Given the description of an element on the screen output the (x, y) to click on. 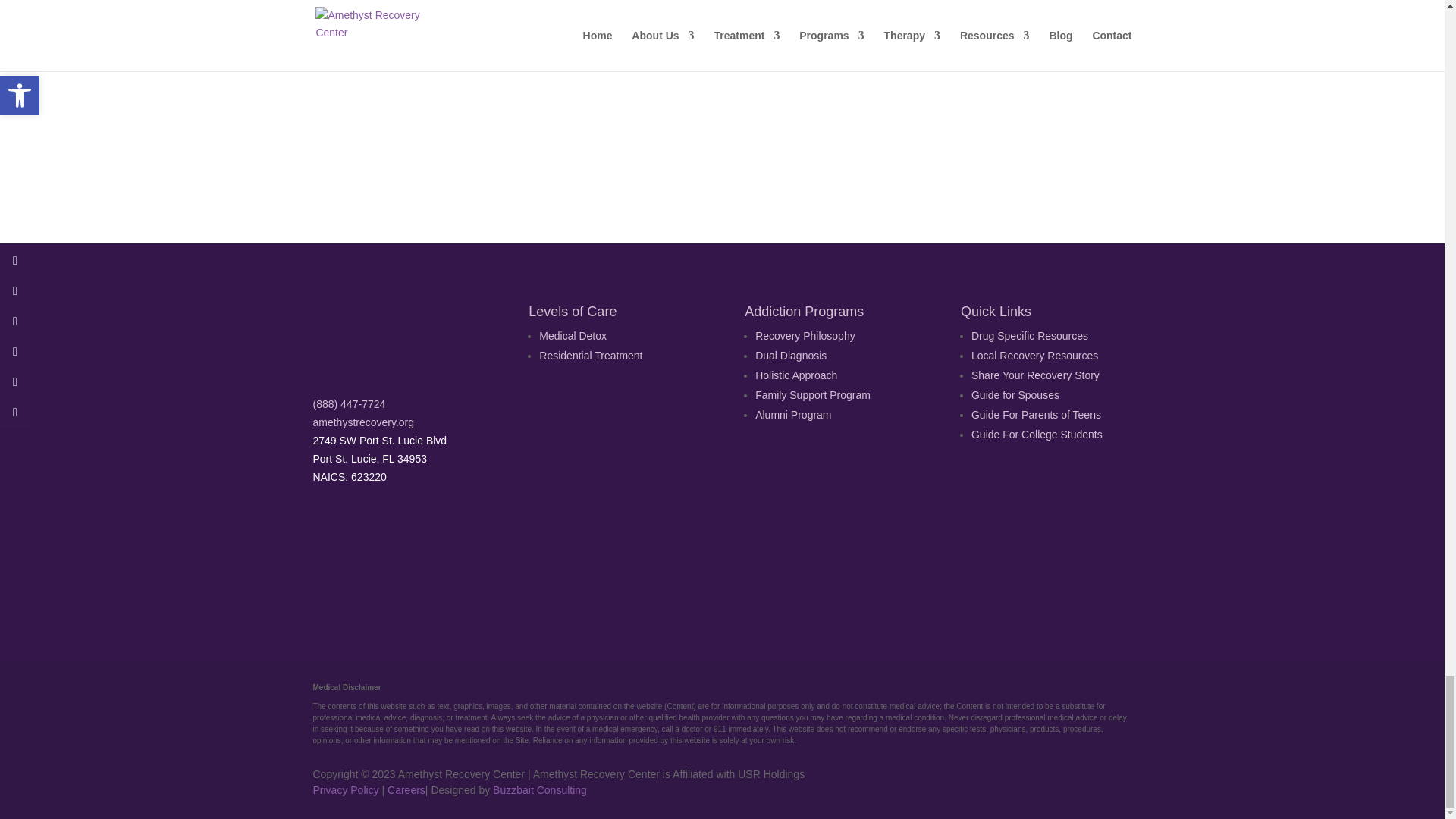
dcf-logo2 (793, 544)
Verify LegitScript Approval (648, 574)
joint-commission-png-100 (506, 544)
logo-light-sm (388, 338)
